Given the description of an element on the screen output the (x, y) to click on. 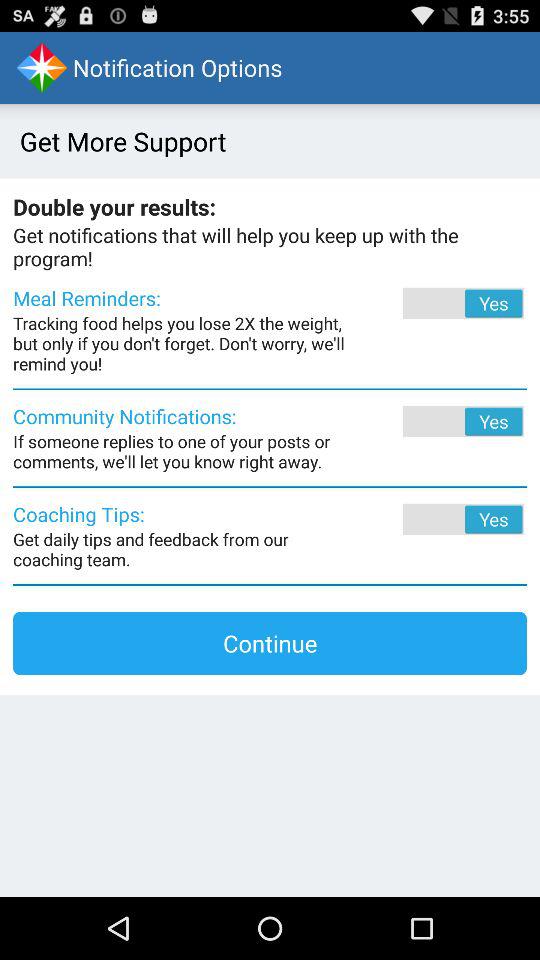
toggle switch for meal reminders (436, 303)
